Given the description of an element on the screen output the (x, y) to click on. 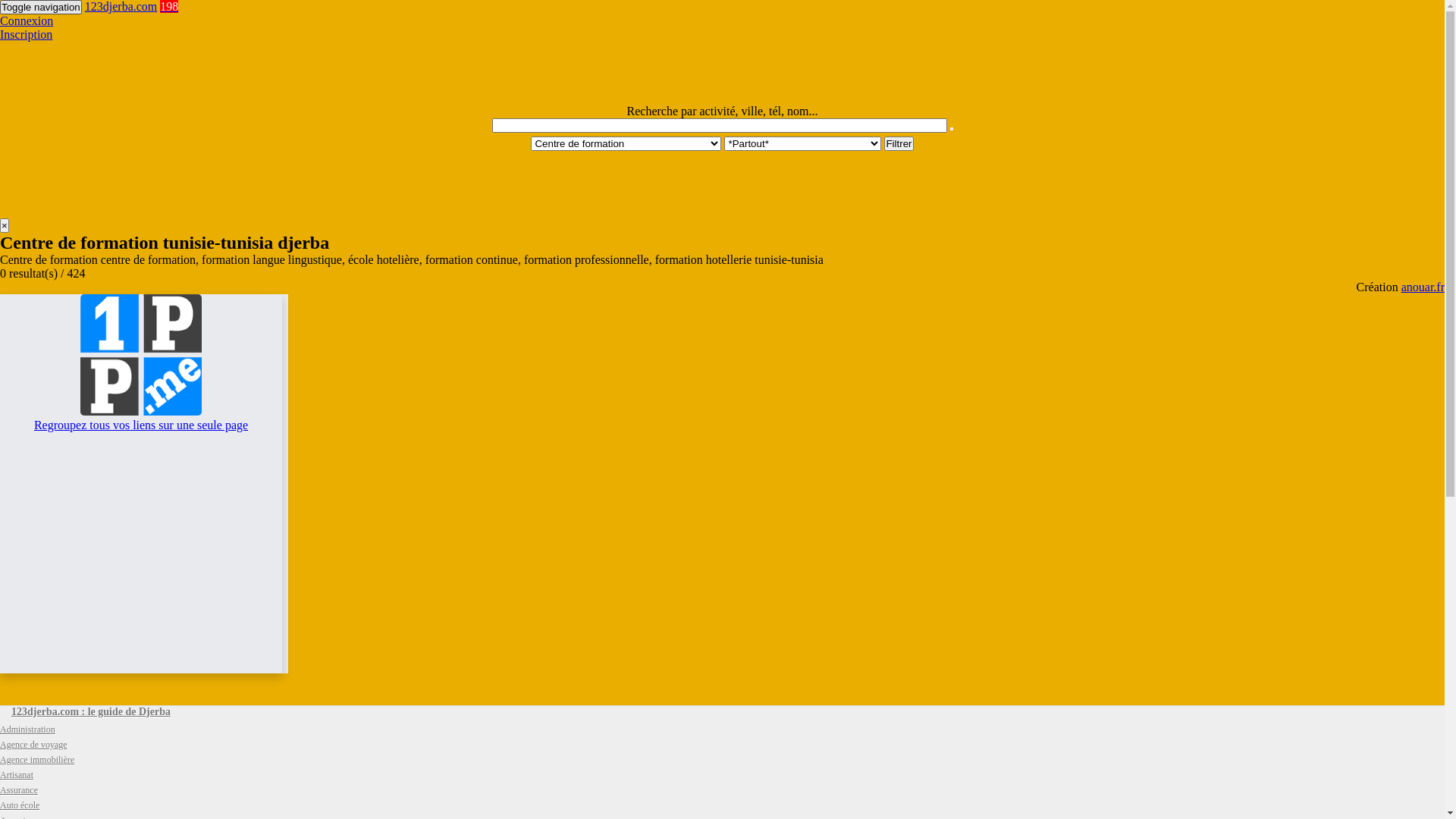
Filtrer Element type: text (898, 143)
123djerba.com : le guide de Djerba Element type: text (90, 711)
Toggle navigation Element type: text (40, 7)
Connexion Element type: text (26, 20)
Assurance Element type: text (18, 789)
Artisanat Element type: text (16, 774)
Administration Element type: text (27, 729)
Regroupez tous vos liens sur une seule page Element type: text (140, 417)
123djerba.com Element type: text (120, 6)
Inscription Element type: text (26, 34)
anouar.fr Element type: text (1422, 286)
198 Element type: text (169, 6)
Agence de voyage Element type: text (33, 744)
